Given the description of an element on the screen output the (x, y) to click on. 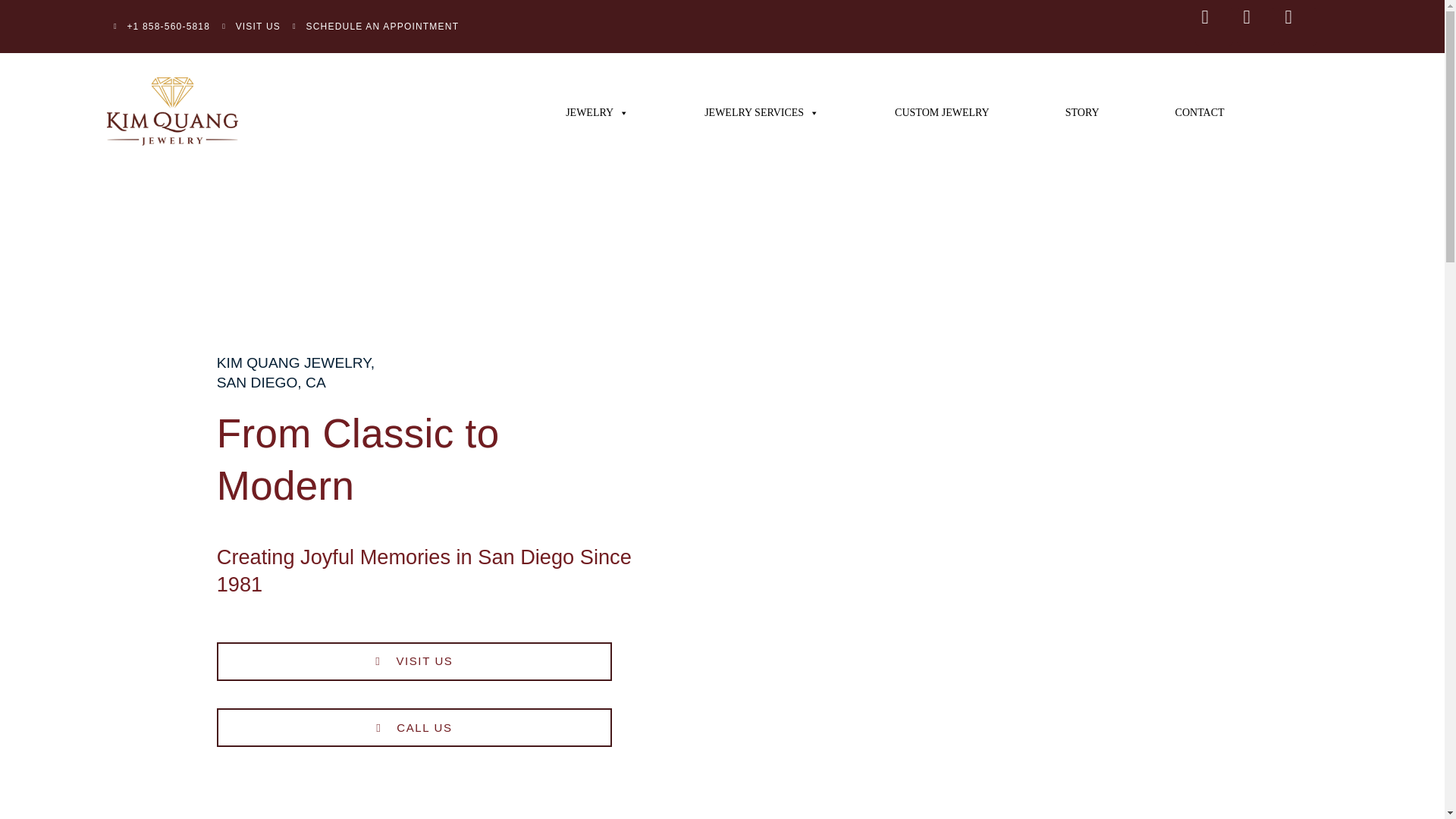
SCHEDULE AN APPOINTMENT (375, 26)
JEWELRY (596, 112)
VISIT US (251, 26)
